Given the description of an element on the screen output the (x, y) to click on. 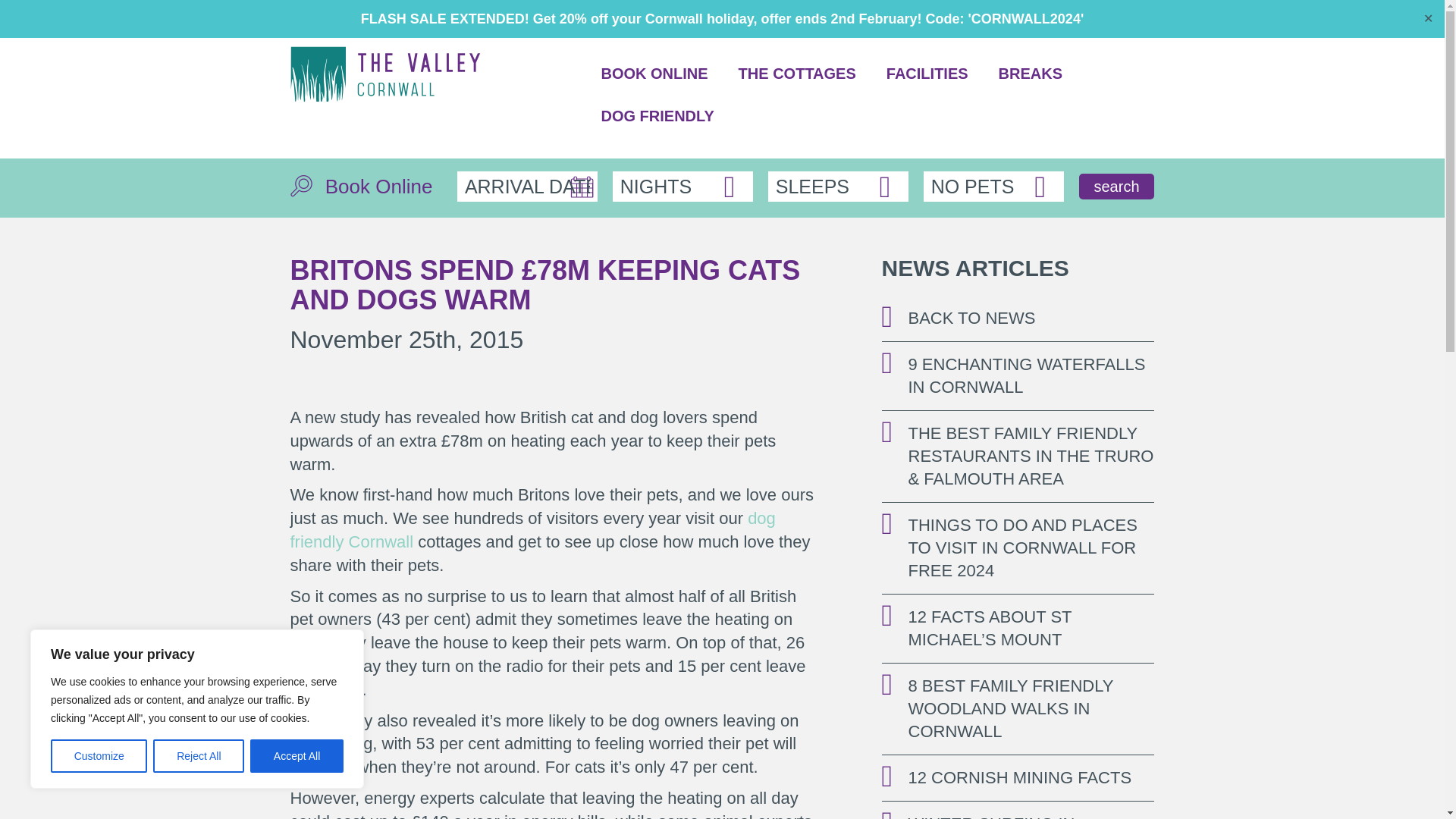
Book online (653, 87)
The cottages (796, 87)
THE COTTAGES (796, 87)
Facilities (927, 87)
Instragram (1116, 17)
FACILITIES (927, 87)
Facebook (1090, 17)
Customize (98, 756)
BOOK ONLINE (653, 87)
Pinterest (1141, 17)
